Given the description of an element on the screen output the (x, y) to click on. 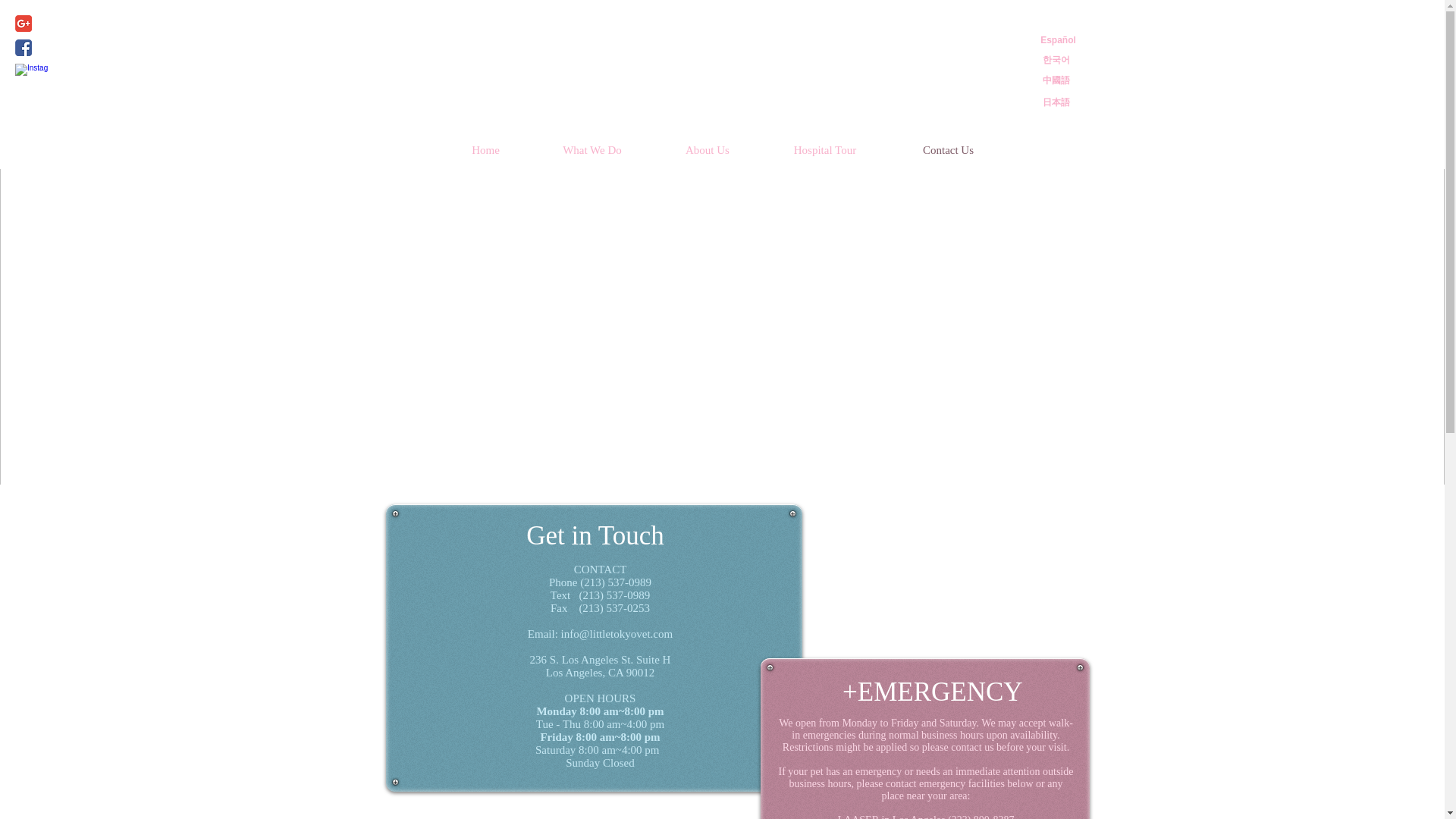
Hospital Tour (824, 150)
What We Do (591, 150)
Home (485, 150)
About Us (707, 150)
236 S. Los Angeles St. Suite H (600, 659)
Contact Us (948, 150)
Los Angeles, CA 90012 (599, 672)
